Given the description of an element on the screen output the (x, y) to click on. 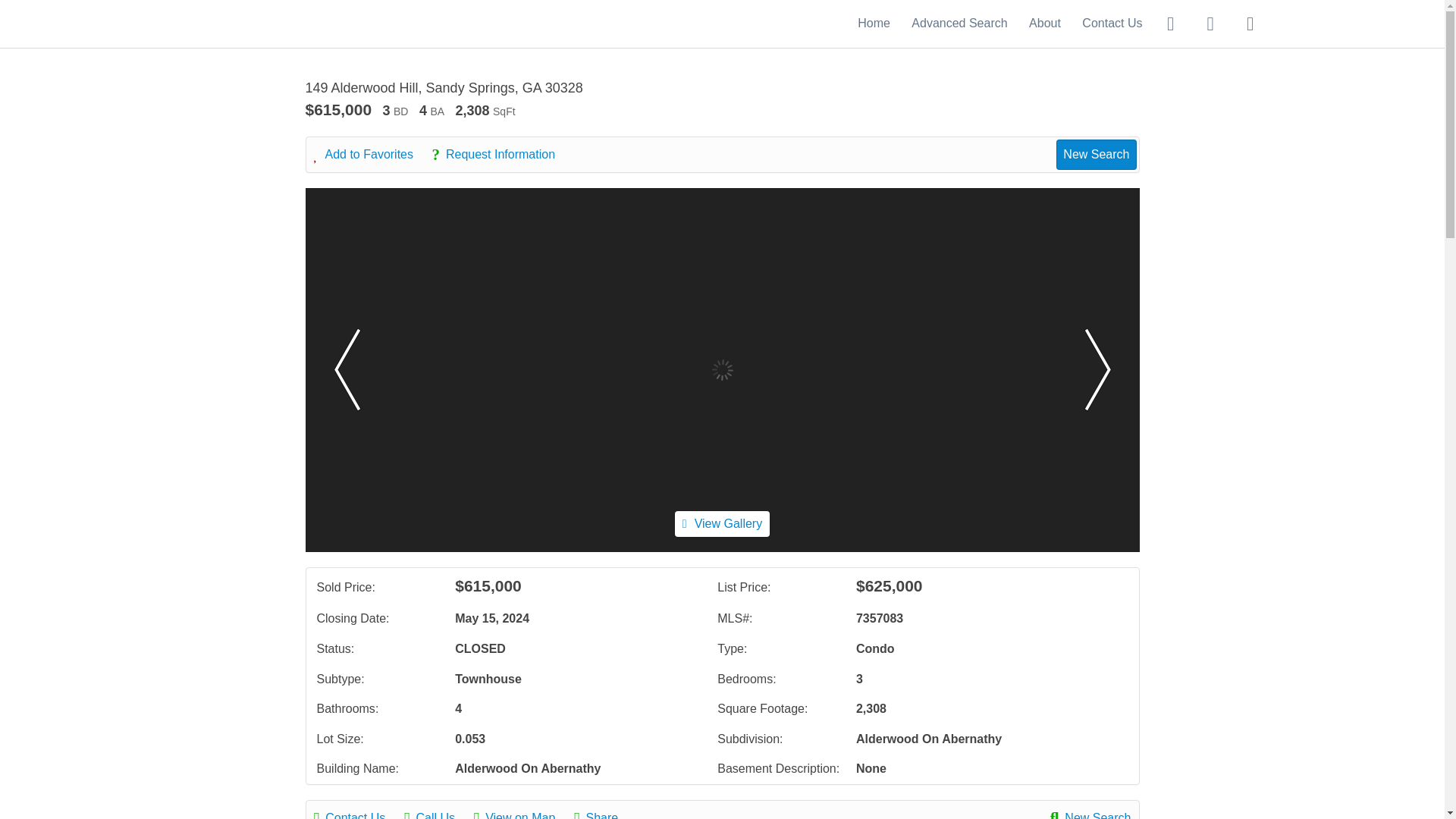
Call Us (437, 812)
Request Information (500, 154)
Contact Us (1111, 22)
Share (603, 812)
New Search (1090, 812)
View Gallery (722, 524)
Add to Favorites (371, 154)
Contact Us (357, 812)
New Search (1096, 154)
View Gallery (722, 522)
About (1045, 22)
Advanced Search (959, 22)
Home (873, 22)
View on Map (521, 812)
